Given the description of an element on the screen output the (x, y) to click on. 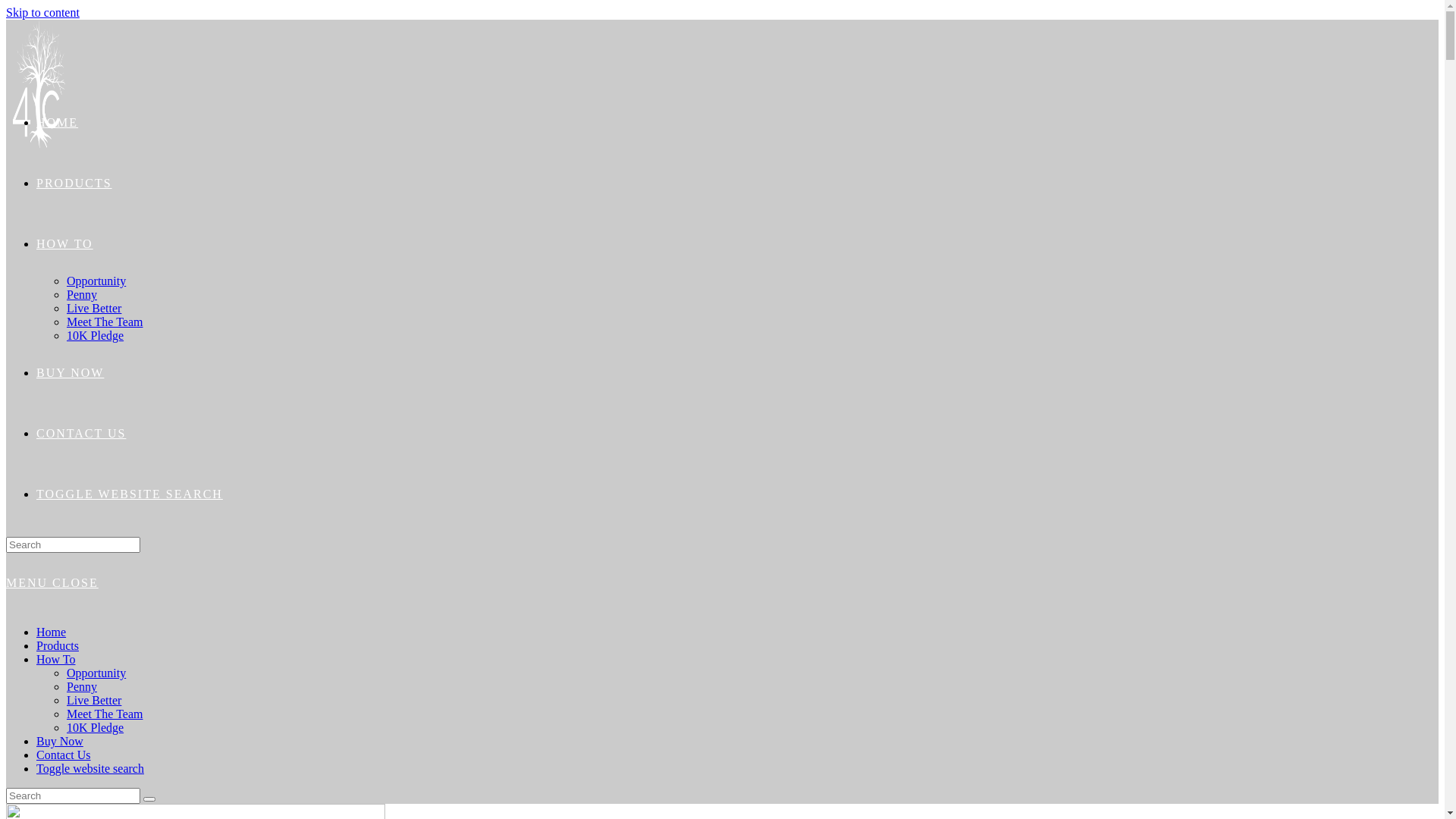
BUY NOW Element type: text (69, 372)
MENU CLOSE Element type: text (52, 582)
HOW TO Element type: text (64, 243)
Live Better Element type: text (93, 699)
Penny Element type: text (81, 294)
CONTACT US Element type: text (80, 432)
Meet The Team Element type: text (104, 713)
Toggle website search Element type: text (90, 768)
Skip to content Element type: text (42, 12)
TOGGLE WEBSITE SEARCH Element type: text (129, 493)
Contact Us Element type: text (63, 754)
Products Element type: text (57, 645)
PRODUCTS Element type: text (74, 182)
HOME Element type: text (57, 122)
Opportunity Element type: text (95, 672)
Buy Now Element type: text (59, 740)
How To Element type: text (55, 658)
Live Better Element type: text (93, 307)
Meet The Team Element type: text (104, 321)
Home Element type: text (50, 631)
10K Pledge Element type: text (94, 727)
Opportunity Element type: text (95, 280)
Penny Element type: text (81, 686)
10K Pledge Element type: text (94, 335)
